Given the description of an element on the screen output the (x, y) to click on. 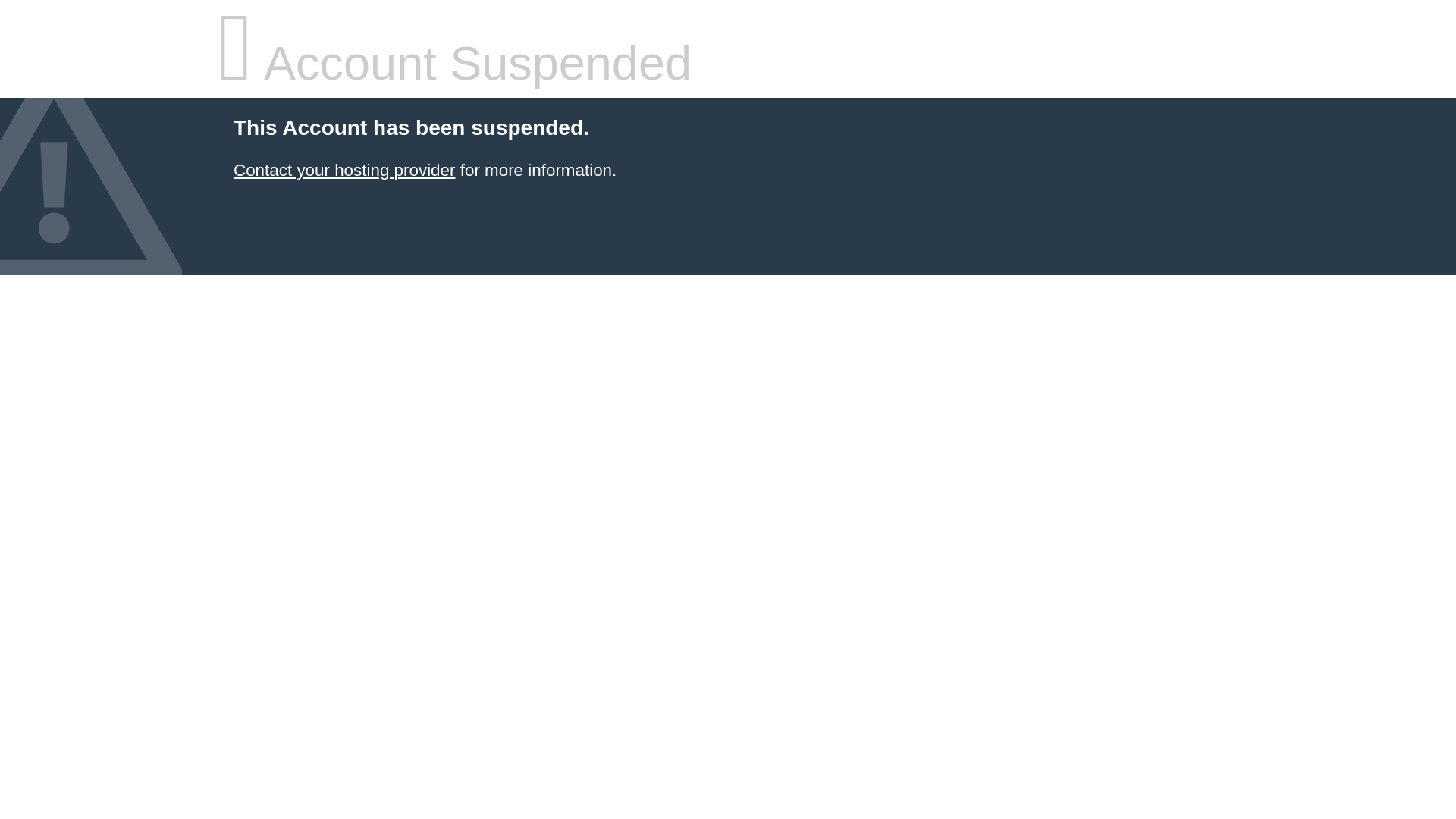
Contact your hosting provider (343, 169)
